Given the description of an element on the screen output the (x, y) to click on. 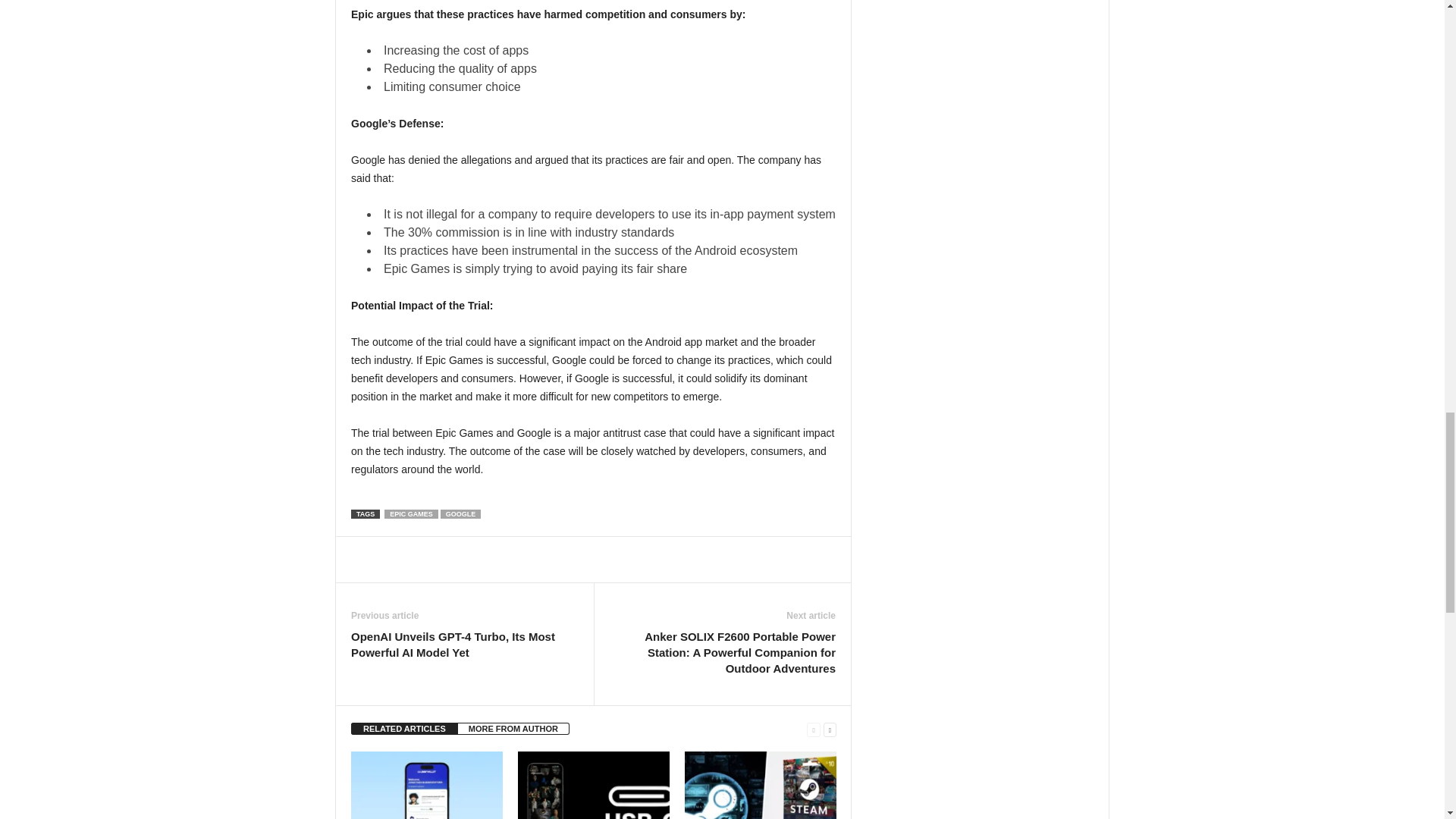
MORE FROM AUTHOR (513, 727)
EPIC GAMES (411, 513)
OpenAI Unveils GPT-4 Turbo, Its Most Powerful AI Model Yet (464, 644)
GOOGLE (461, 513)
RELATED ARTICLES (404, 727)
